Given the description of an element on the screen output the (x, y) to click on. 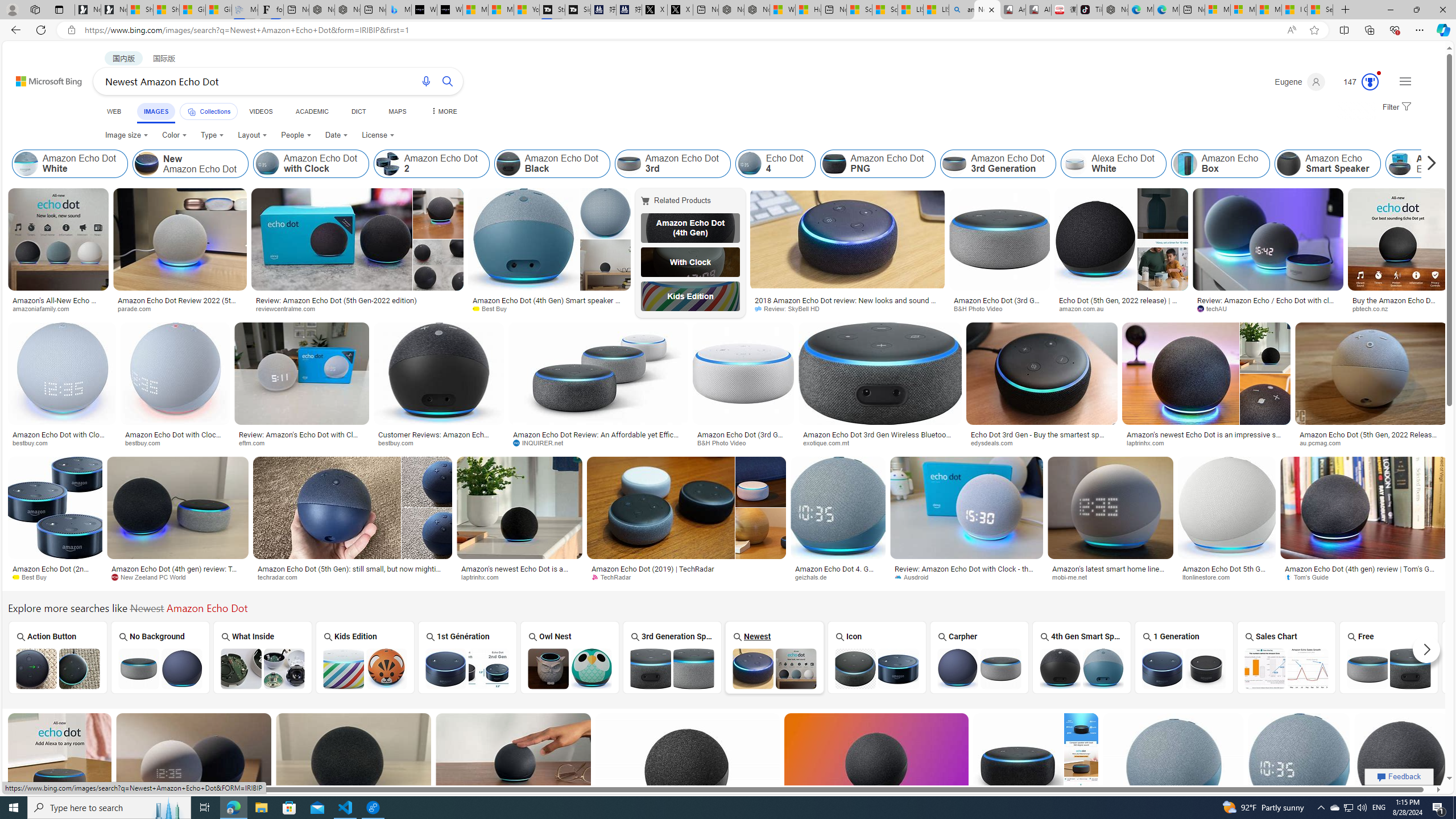
Ausdroid (914, 576)
Review: Amazon Echo Dot (5th Gen-2022 edition) (336, 299)
WEB (114, 111)
Review: SkyBell HD (847, 308)
Amazon Echo Dot Photo No Background No Background (160, 656)
Amazon Echo Dot with Clock (310, 163)
ltonlinestore.com (1226, 576)
pbtech.co.nz (1374, 308)
au.pcmag.com (1371, 442)
